Given the description of an element on the screen output the (x, y) to click on. 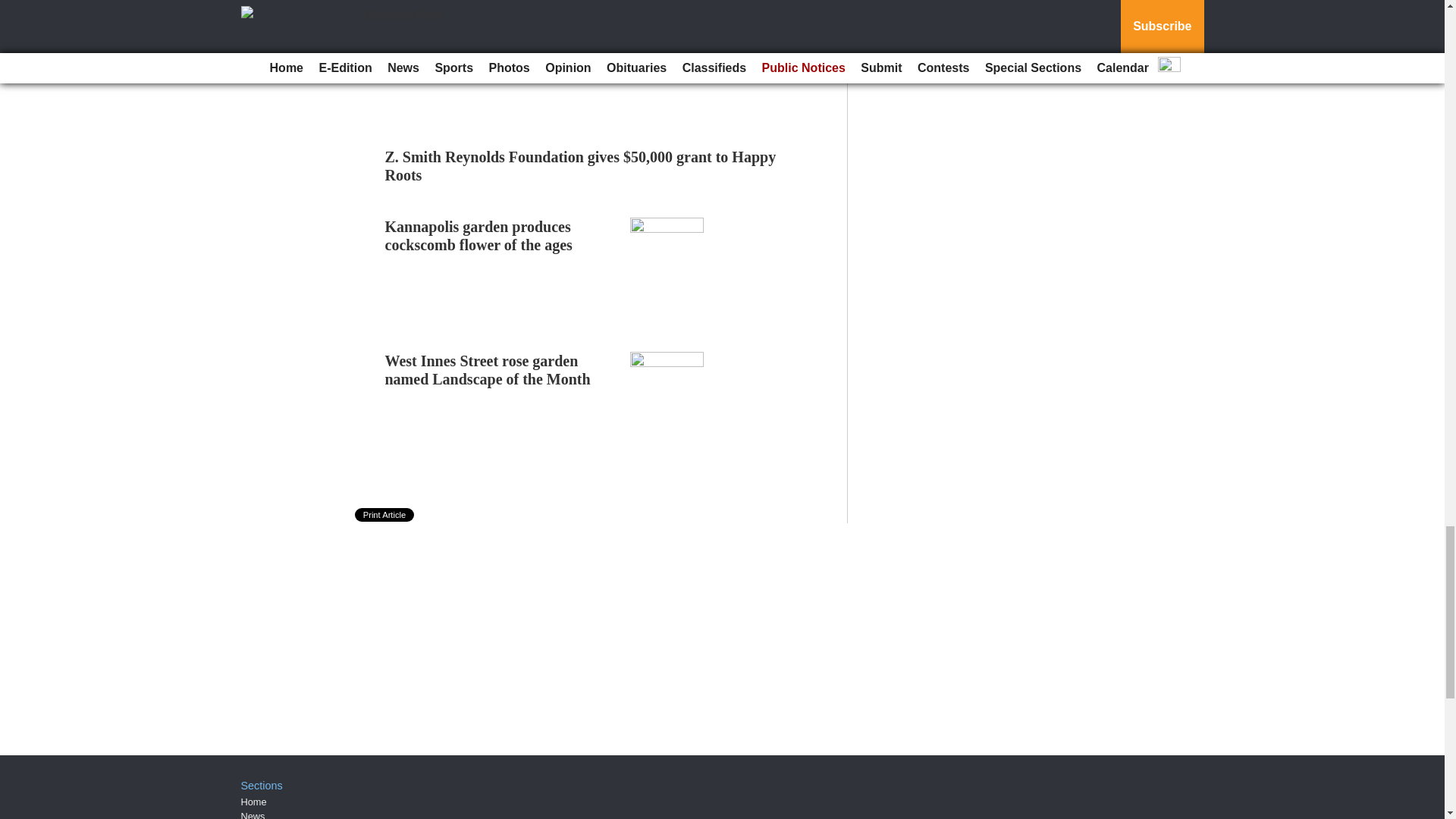
Closing the gap: Bread Riot address nutritional shortages (479, 6)
Kannapolis garden produces cockscomb flower of the ages (478, 235)
West Innes Street rose garden named Landscape of the Month (488, 369)
